Given the description of an element on the screen output the (x, y) to click on. 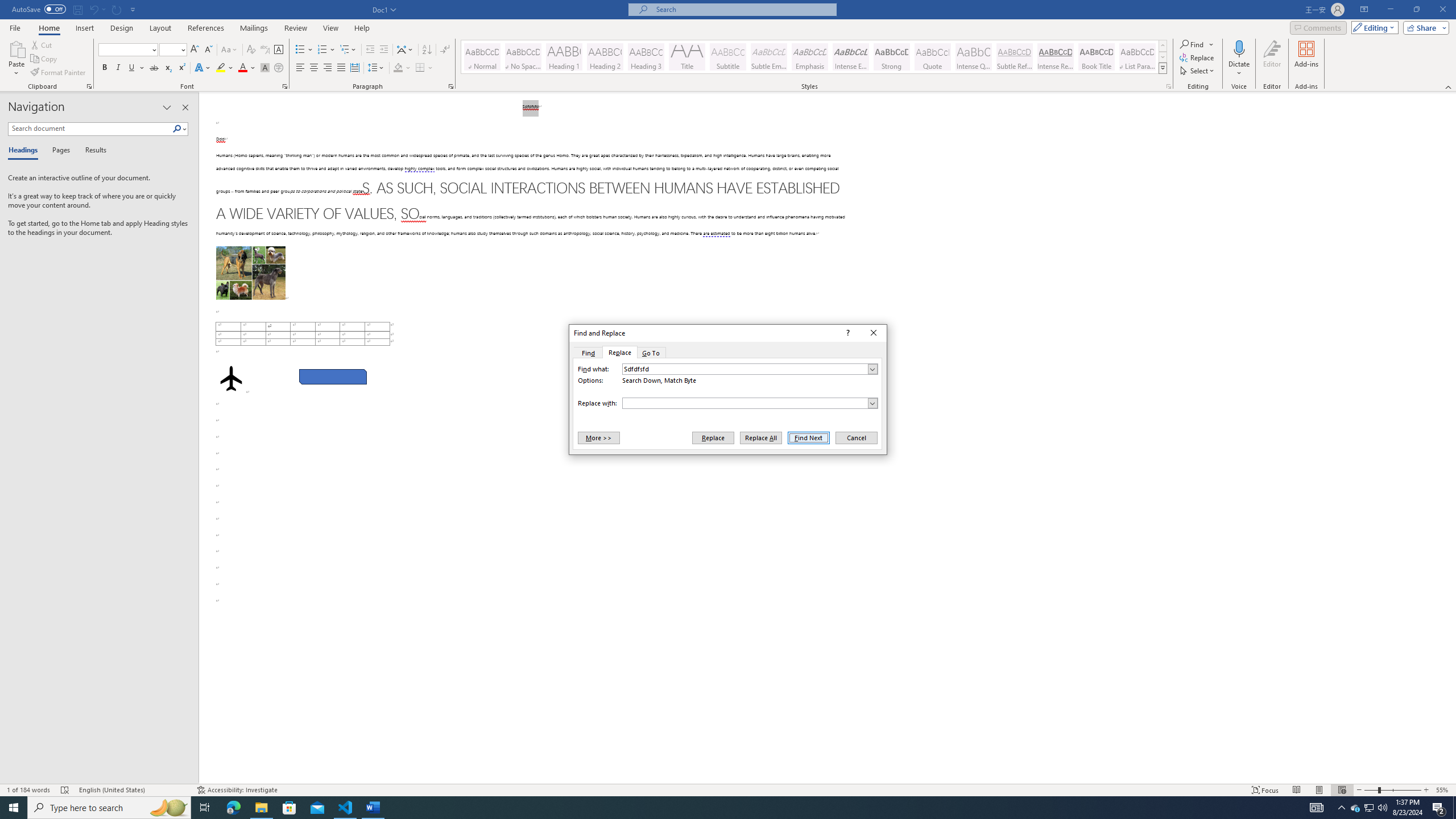
Borders (419, 67)
Align Left (300, 67)
Heading 2 (605, 56)
Paste (16, 48)
Find (1197, 44)
Format Painter (58, 72)
Notification Chevron (1341, 807)
Paste (16, 58)
Center (313, 67)
